Given the description of an element on the screen output the (x, y) to click on. 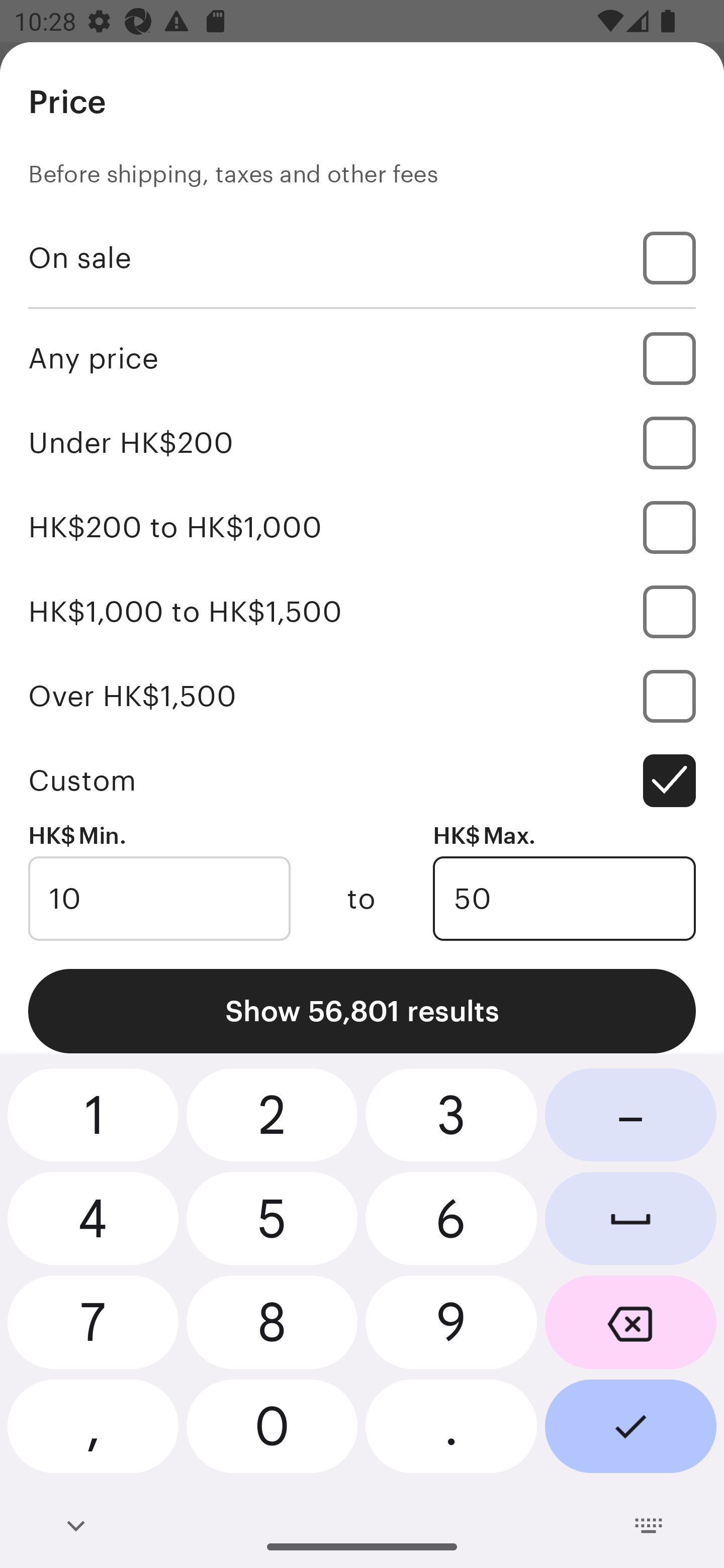
On sale (362, 257)
Any price (362, 357)
Under HK$200 (362, 441)
HK$200 to HK$1,000 (362, 526)
HK$1,000 to HK$1,500 (362, 611)
Over HK$1,500 (362, 695)
Custom (362, 780)
10 (159, 898)
50 (563, 898)
Show 56,801 results (361, 1011)
